Given the description of an element on the screen output the (x, y) to click on. 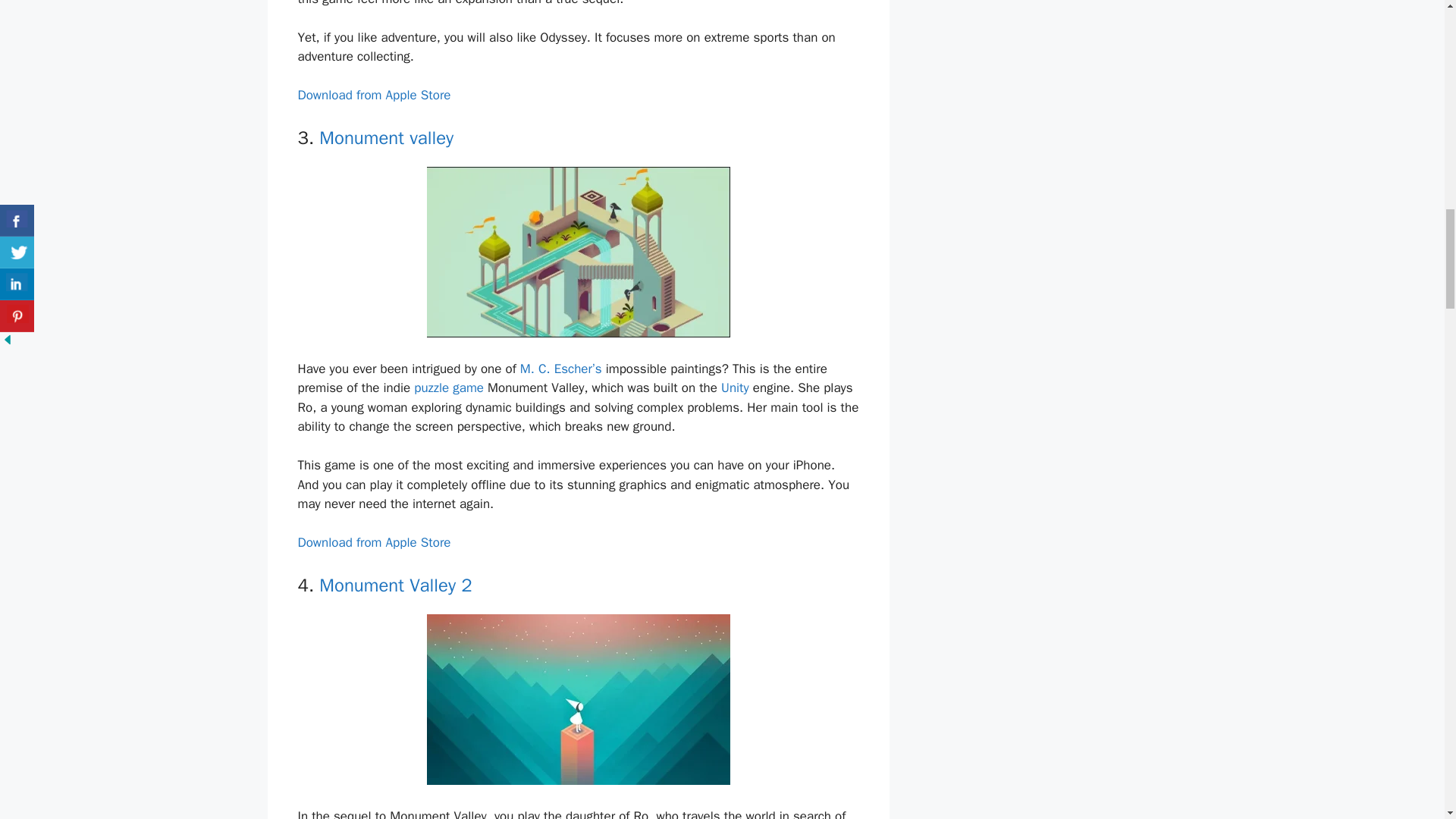
Monument valley (385, 137)
Unity (734, 387)
Download from Apple Store (373, 542)
Download from Apple Store (373, 94)
Monument Valley 2 (394, 585)
puzzle game (448, 387)
